Given the description of an element on the screen output the (x, y) to click on. 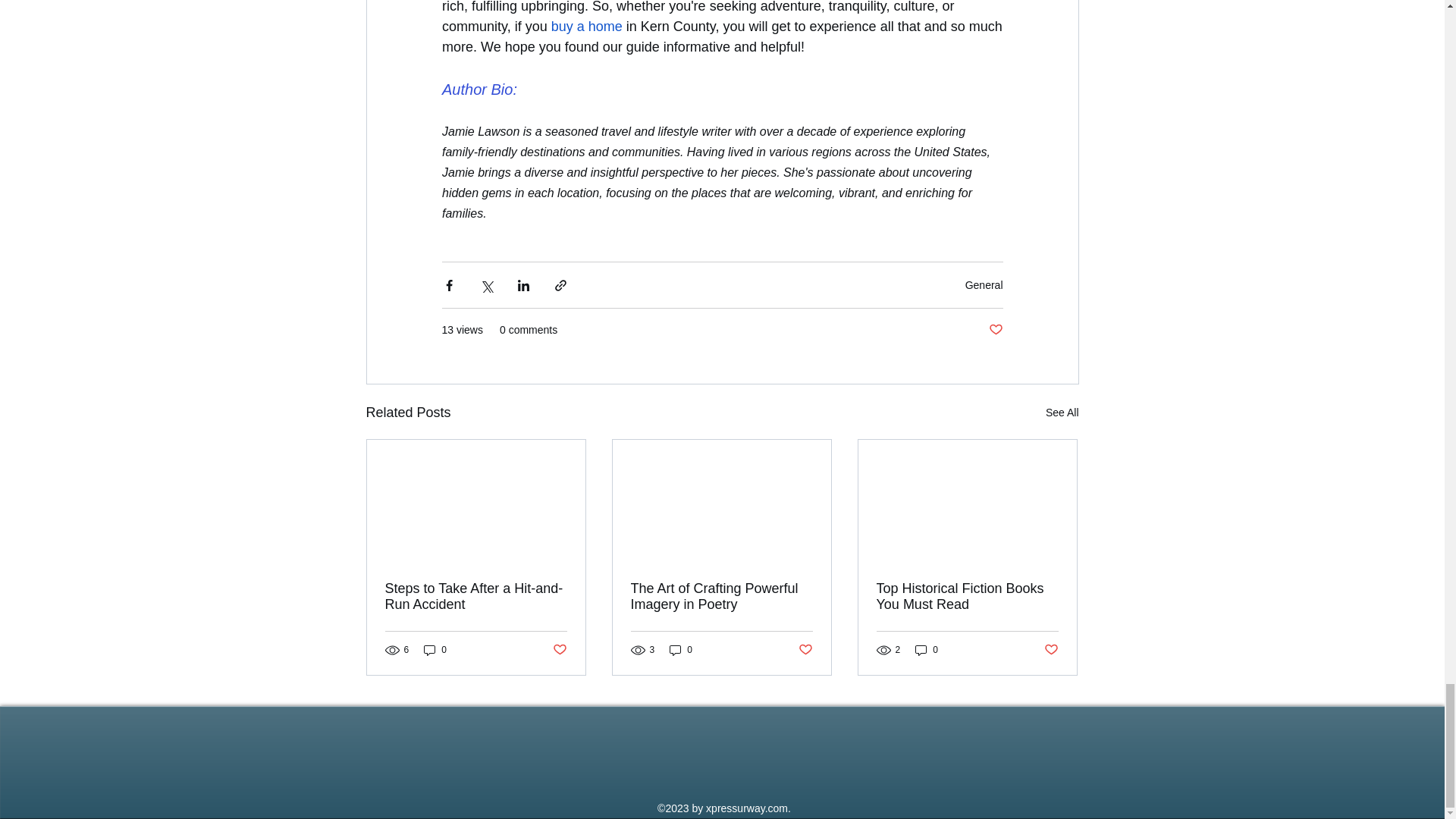
Post not marked as liked (995, 330)
buy a home (585, 26)
General (984, 285)
